Given the description of an element on the screen output the (x, y) to click on. 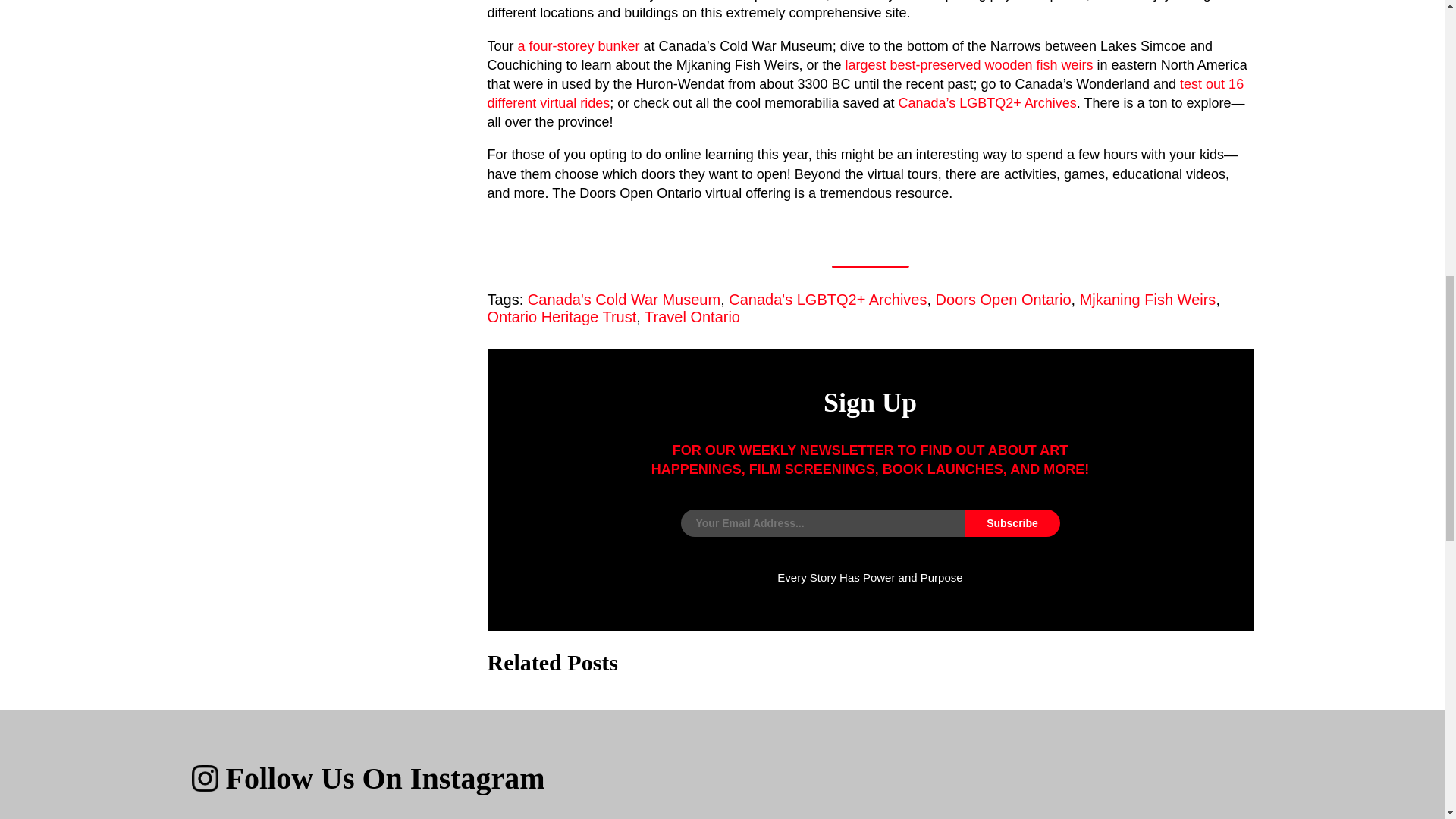
largest best-preserved wooden fish weirs (968, 64)
Doors Open Ontario (1003, 299)
Canada's Cold War Museum (623, 299)
Subscribe (1011, 523)
test out 16 different virtual rides (864, 93)
a four-storey bunker (579, 46)
Mjkaning Fish Weirs (1147, 299)
